Given the description of an element on the screen output the (x, y) to click on. 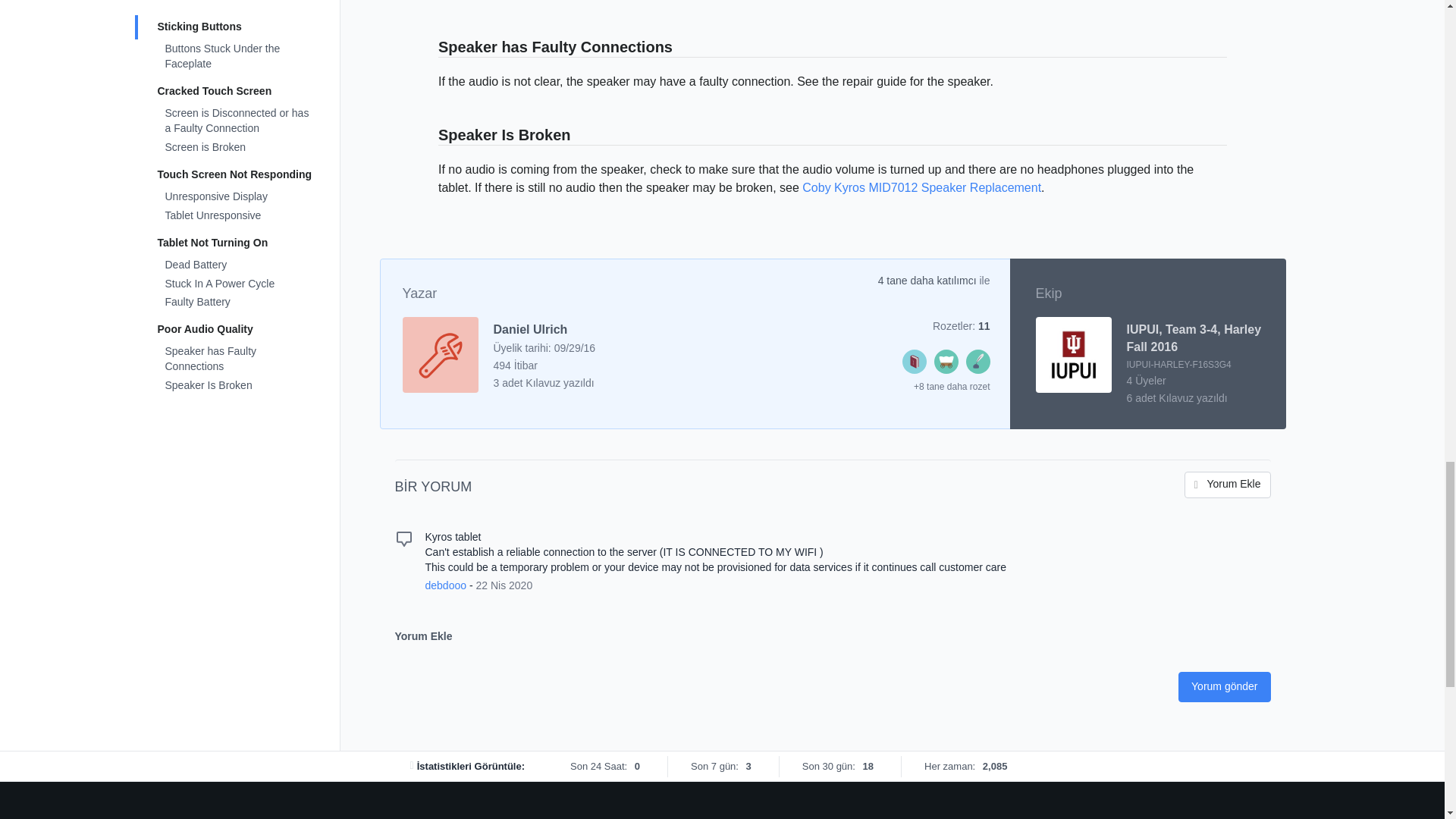
Yorum Ekle (1228, 484)
Yorum Ekle (1228, 484)
